Given the description of an element on the screen output the (x, y) to click on. 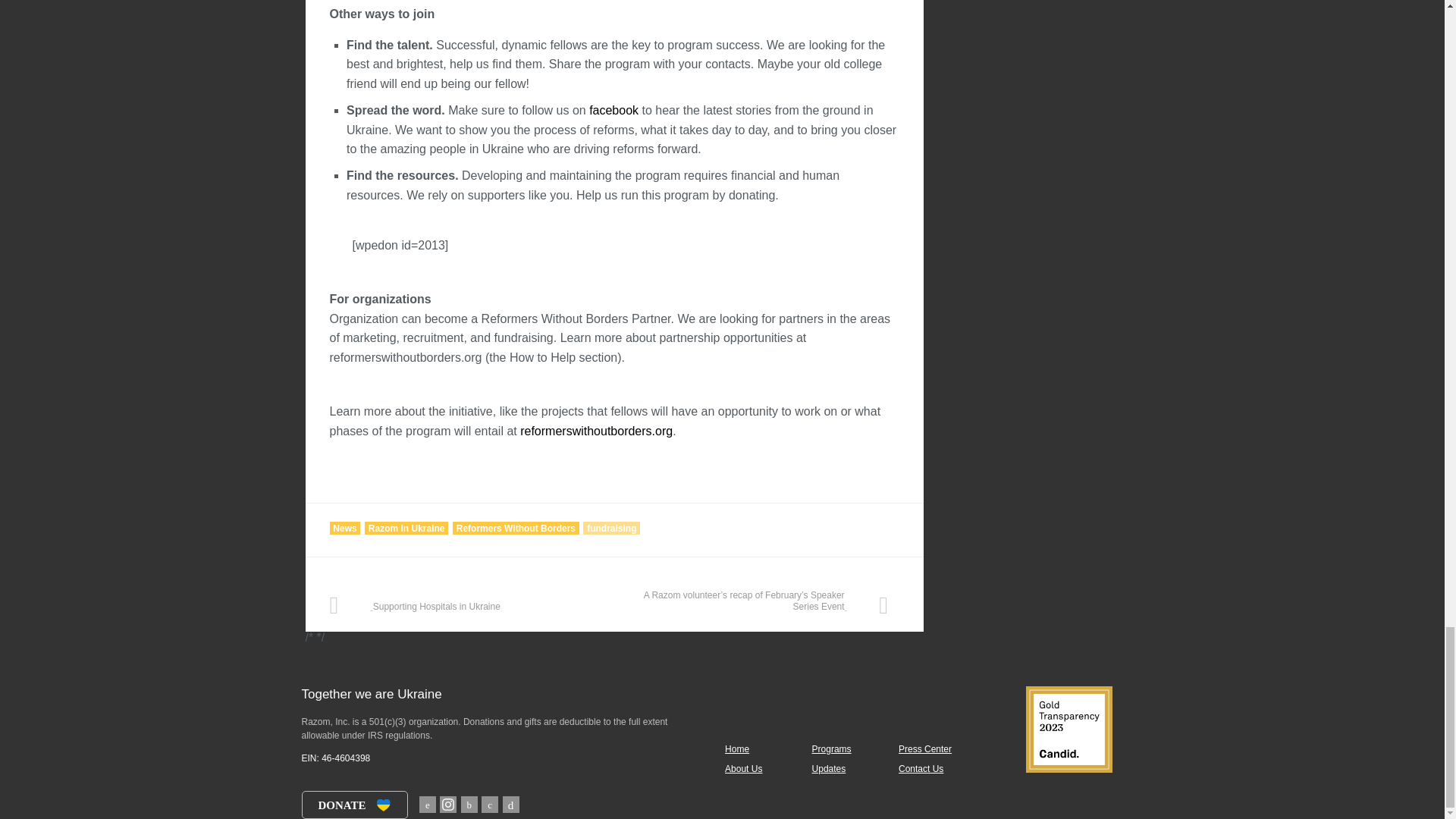
facebook (614, 110)
Supporting Hospitals in Ukraine (465, 600)
Razom in Ukraine (406, 527)
News (344, 527)
reformerswithoutborders.org (595, 431)
Reformers Without Borders (515, 527)
fundraising (611, 527)
